Given the description of an element on the screen output the (x, y) to click on. 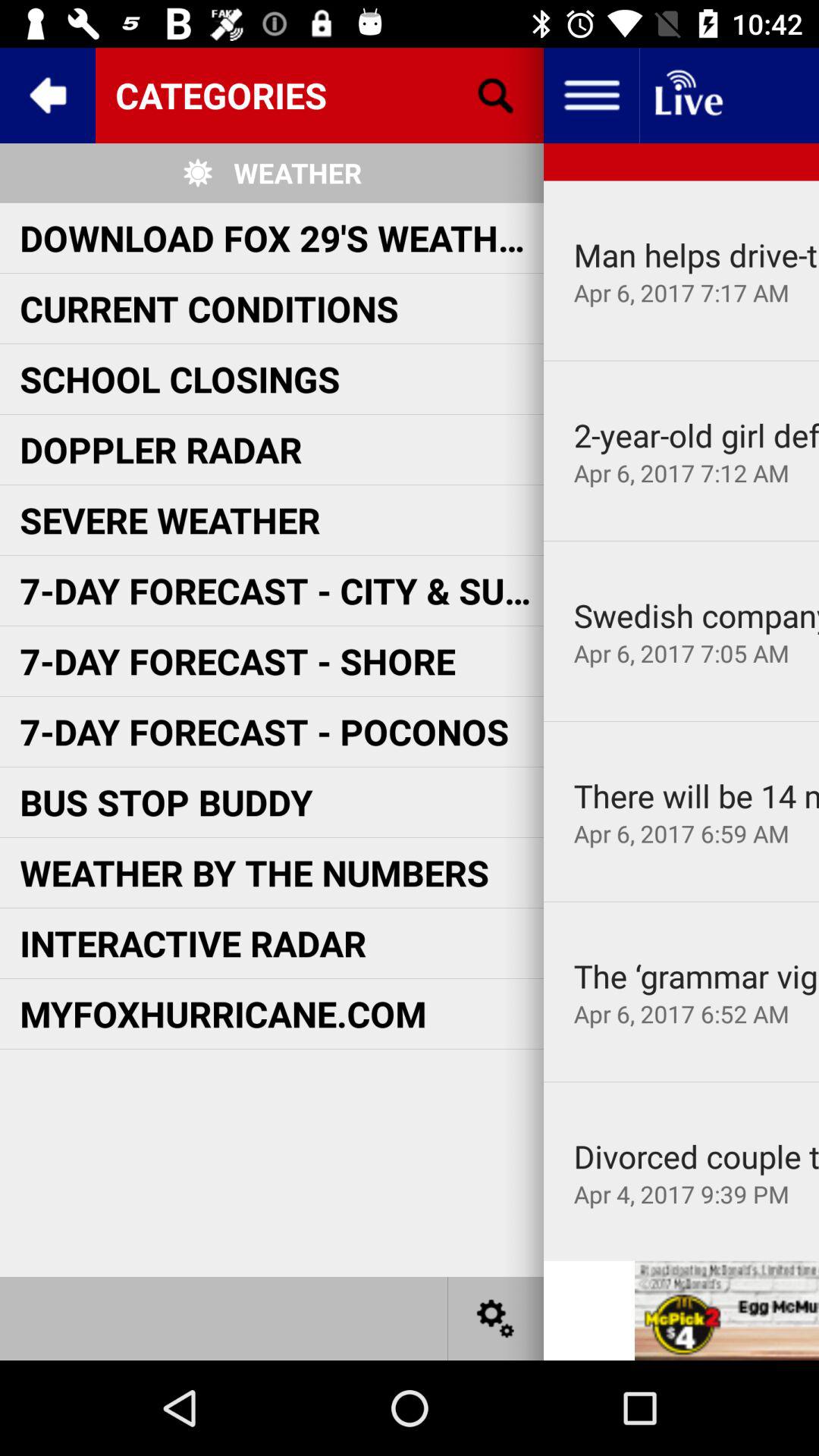
search (495, 95)
